Given the description of an element on the screen output the (x, y) to click on. 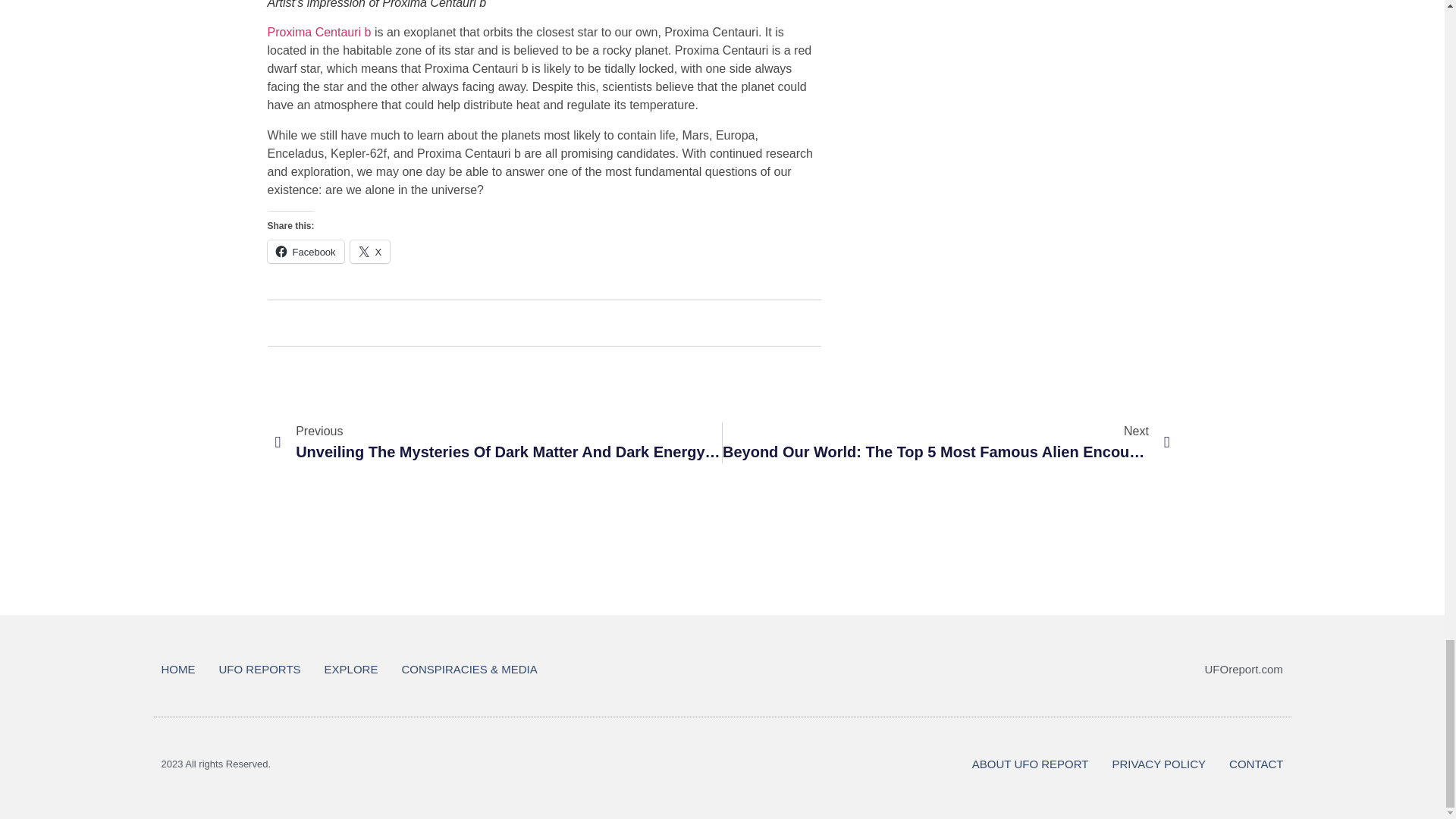
Click to share on X (370, 251)
Click to share on Facebook (304, 251)
